Given the description of an element on the screen output the (x, y) to click on. 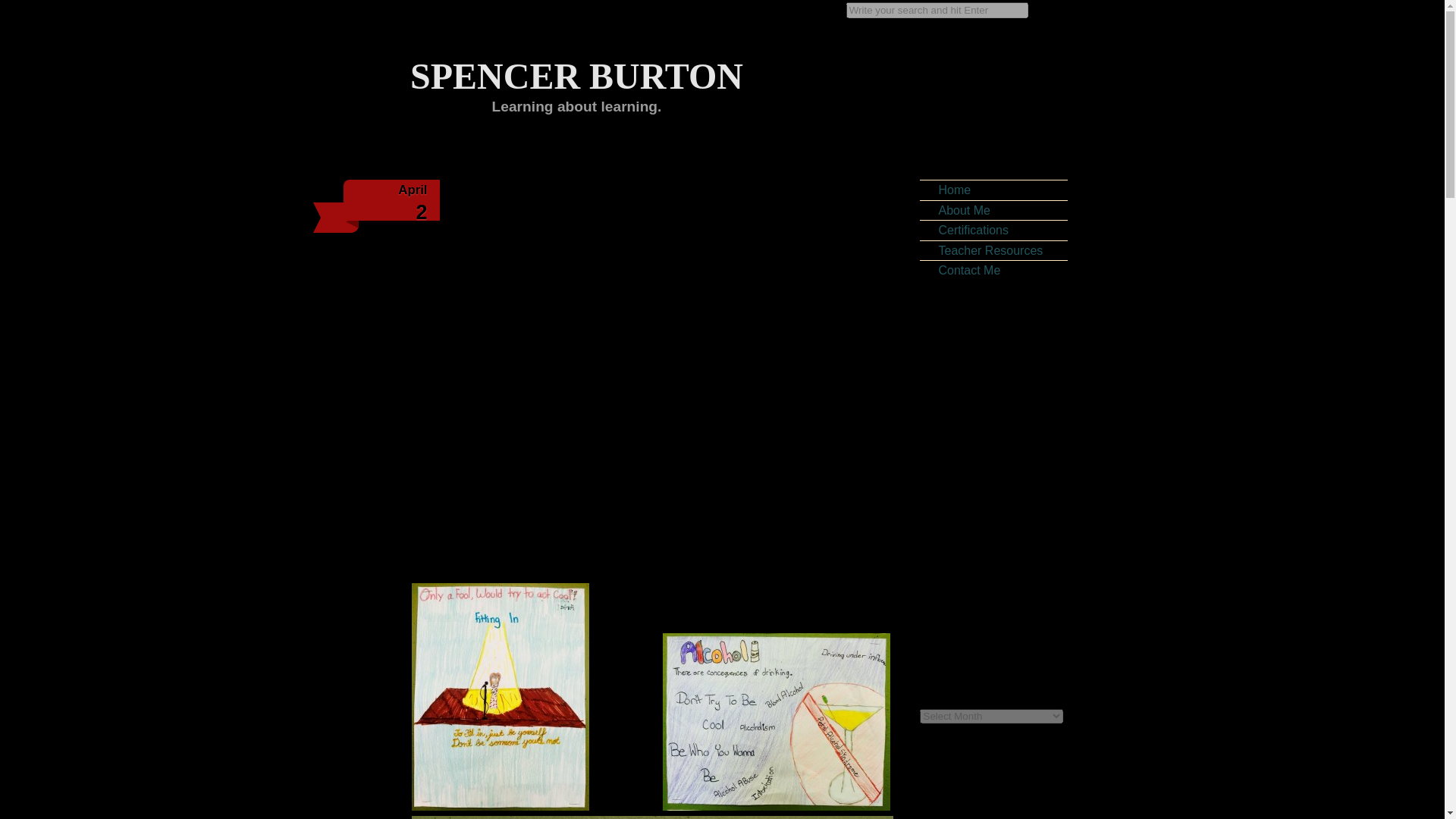
Additional Qualifications (576, 66)
SPENCER BURTON (985, 791)
B. Ed. (576, 66)
Community Connections Project: Community Garden (965, 811)
Certifications (1005, 593)
Search (992, 230)
Teacher Resources (936, 10)
School-Wide Meditation as a Mindfulness Practice (992, 250)
Contact Me (1005, 513)
Fostering Student Voice with Student Council (992, 270)
Search (999, 553)
Touch Screen Assistive Technology (21, 7)
Home (1005, 627)
About Me (992, 189)
